Given the description of an element on the screen output the (x, y) to click on. 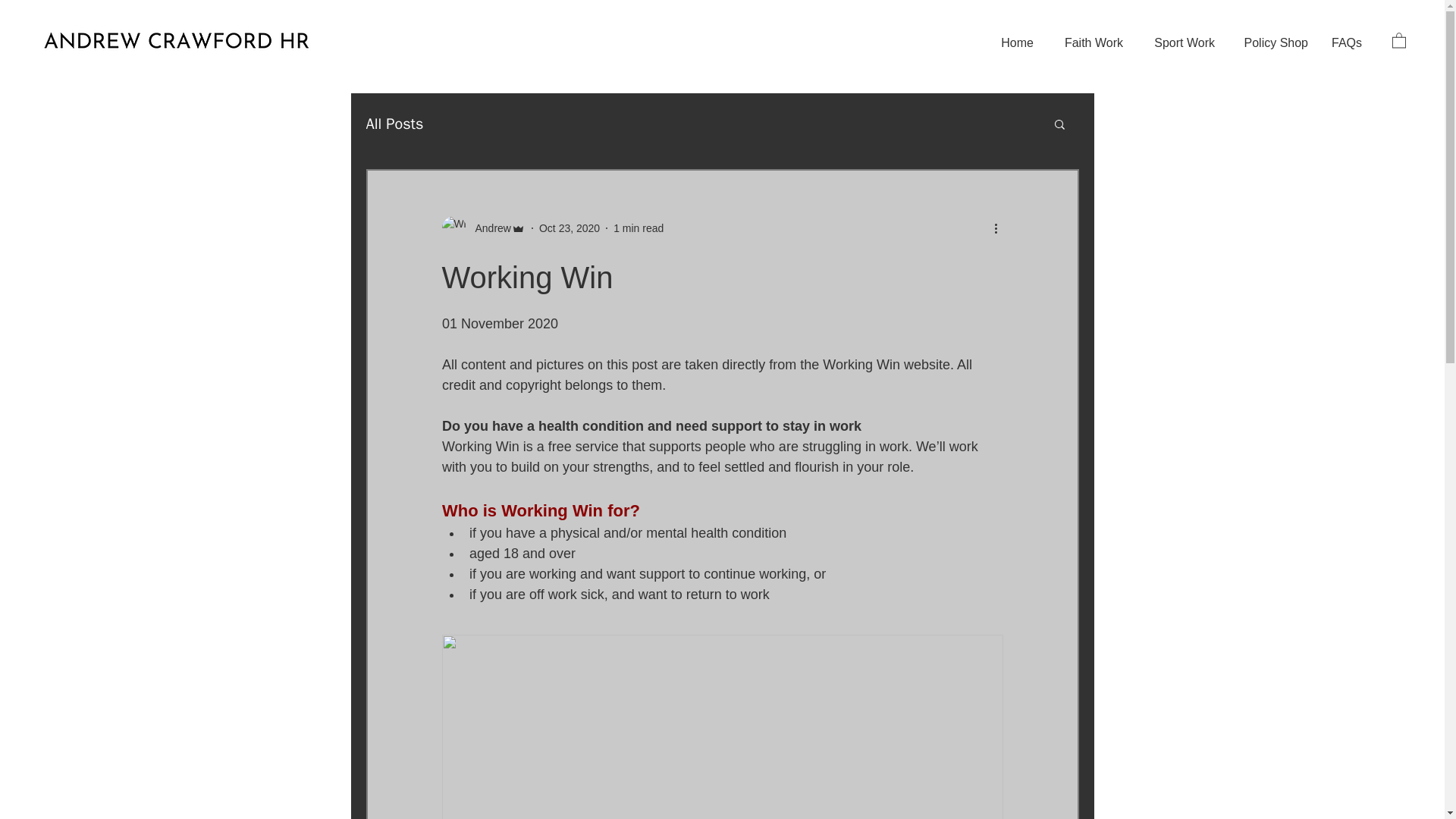
Andrew (488, 228)
Faith Work (1089, 43)
FAQs (1346, 43)
Home (1014, 43)
All Posts (394, 123)
Oct 23, 2020 (568, 227)
1 min read (637, 227)
Sport Work (1179, 43)
Andrew (482, 228)
Policy Shop (1272, 43)
